Given the description of an element on the screen output the (x, y) to click on. 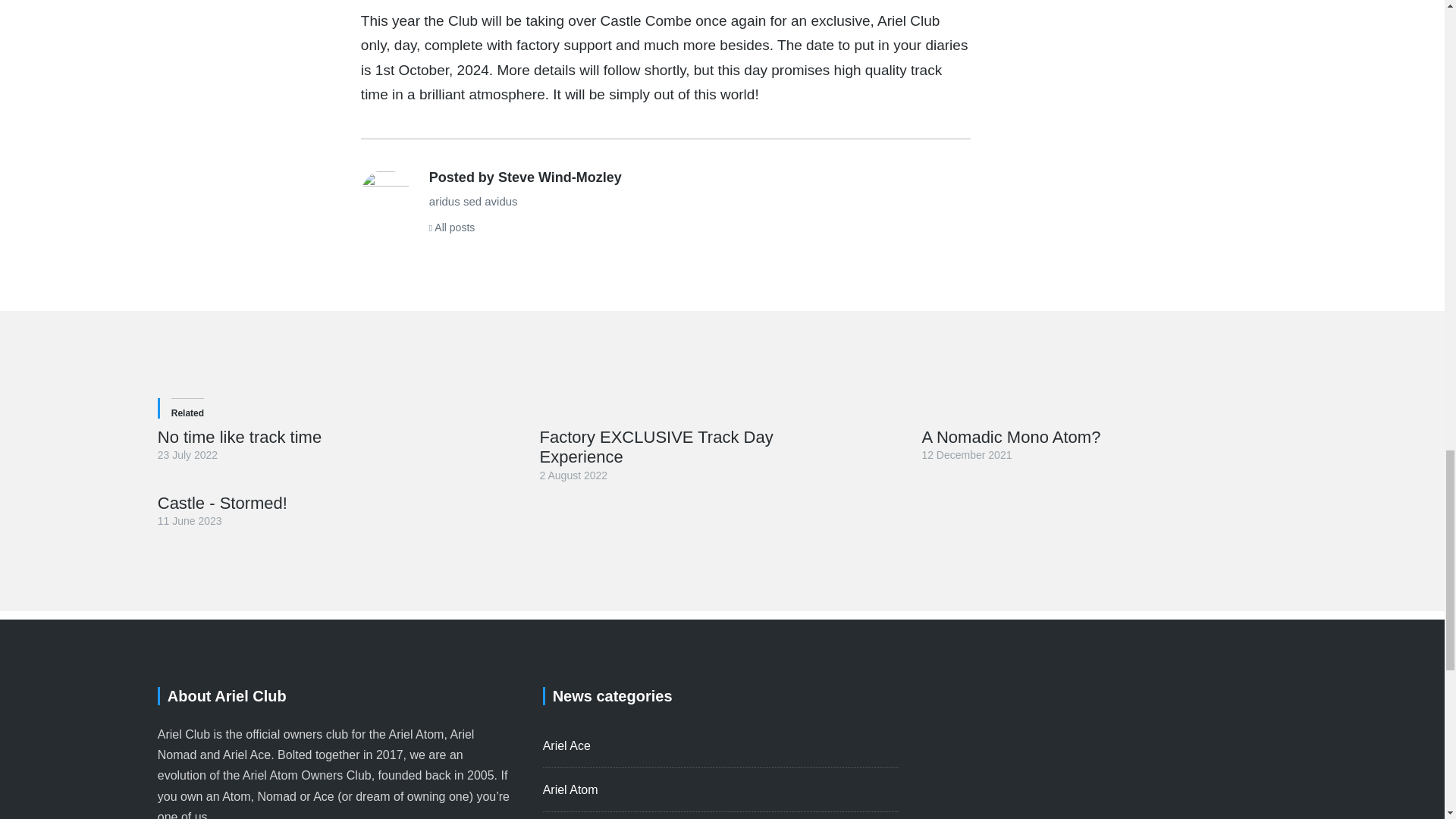
Factory EXCLUSIVE Track Day Experience (656, 446)
A Nomadic Mono Atom? (1010, 436)
Posts by Steve Wind-Mozley (385, 194)
No time like track time (239, 436)
Castle - Stormed! (221, 502)
